Given the description of an element on the screen output the (x, y) to click on. 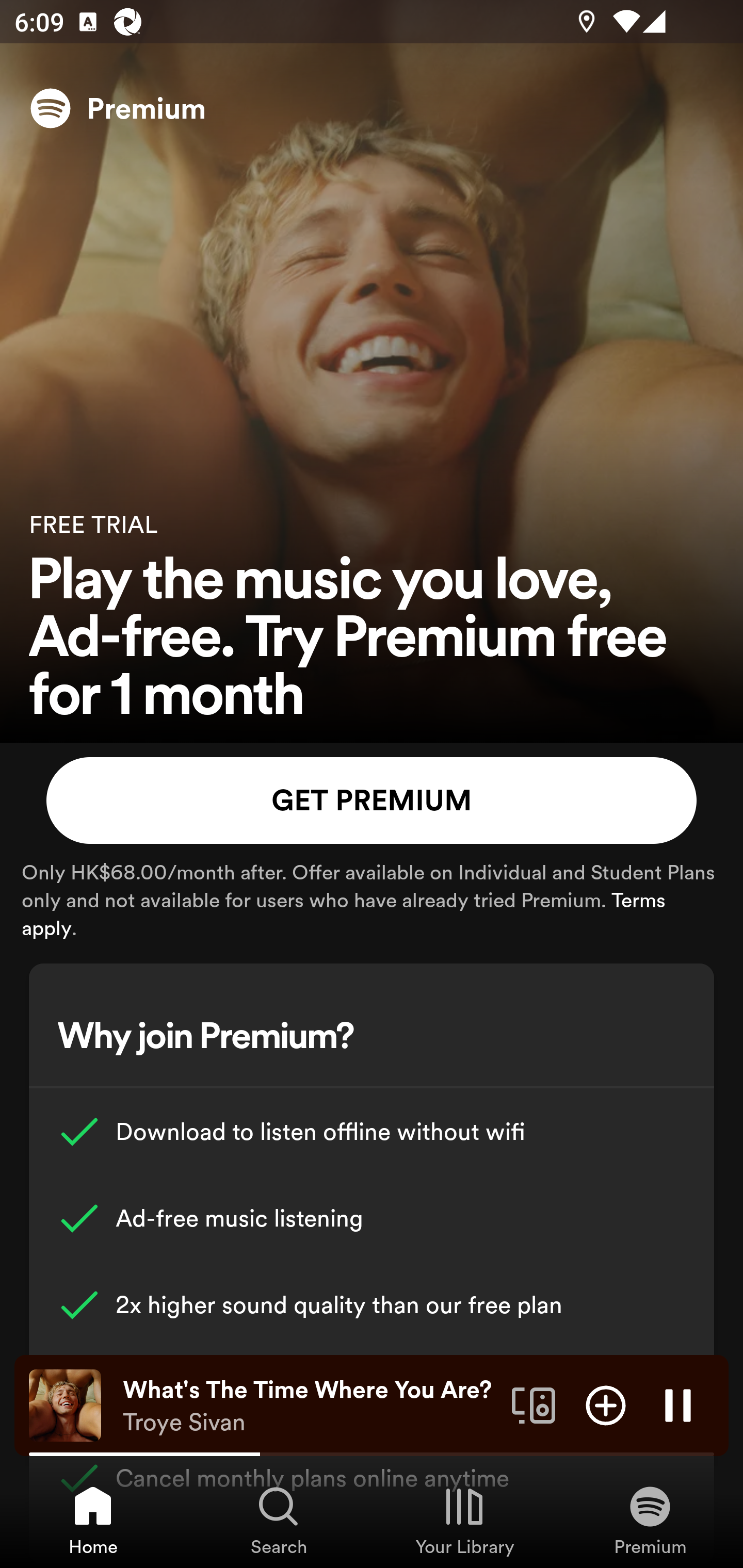
GET PREMIUM (371, 800)
What's The Time Where You Are? Troye Sivan (309, 1405)
The cover art of the currently playing track (64, 1404)
Connect to a device. Opens the devices menu (533, 1404)
Add item (605, 1404)
Pause (677, 1404)
Home, Tab 1 of 4 Home Home (92, 1519)
Search, Tab 2 of 4 Search Search (278, 1519)
Your Library, Tab 3 of 4 Your Library Your Library (464, 1519)
Premium, Tab 4 of 4 Premium Premium (650, 1519)
